Given the description of an element on the screen output the (x, y) to click on. 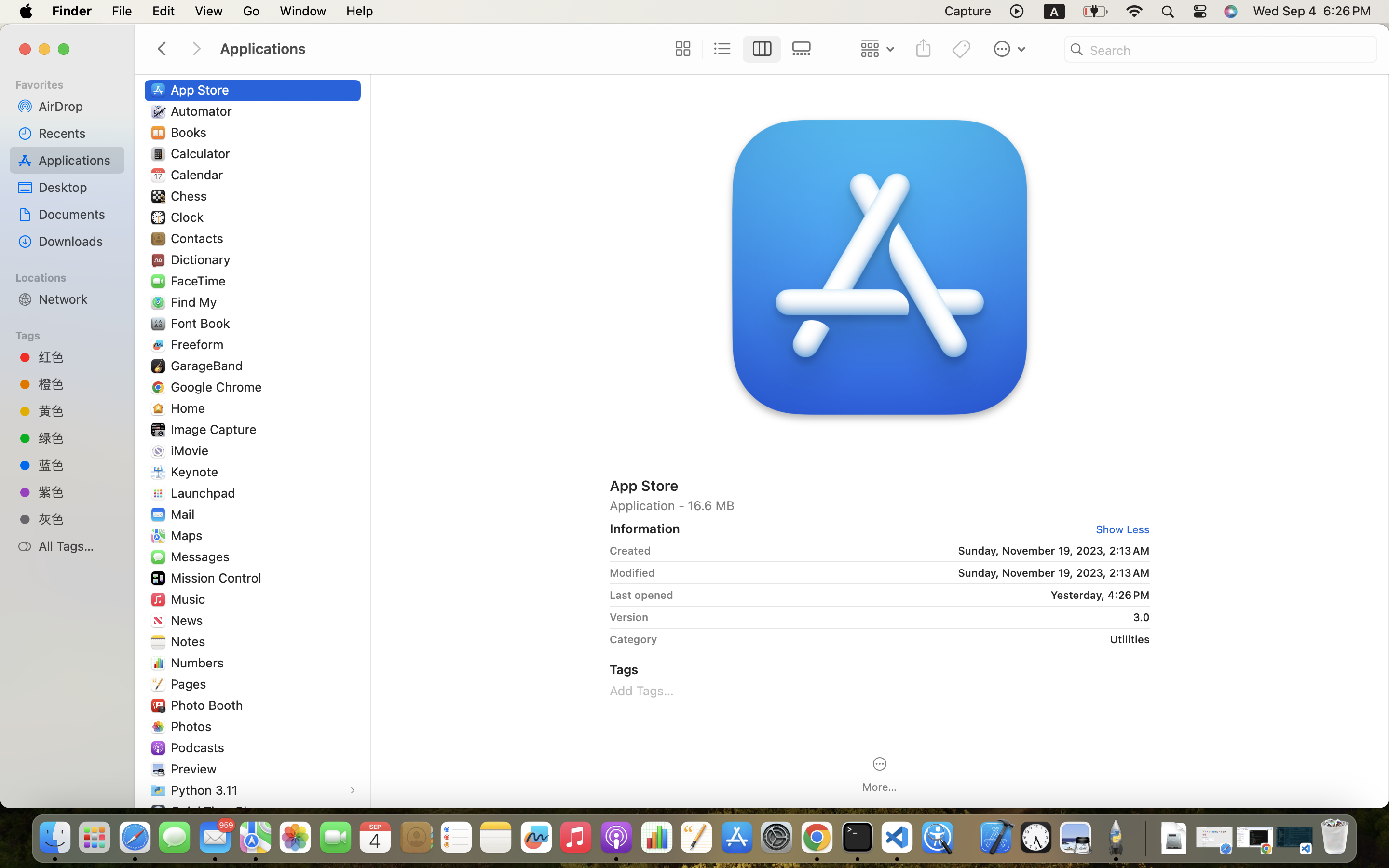
Utilities Element type: AXStaticText (906, 639)
Clock Element type: AXTextField (189, 216)
黄色 Element type: AXStaticText (77, 410)
Sunday, November 19, 2023, 2:13 AM Element type: AXStaticText (903, 550)
Find My Element type: AXTextField (195, 301)
